Given the description of an element on the screen output the (x, y) to click on. 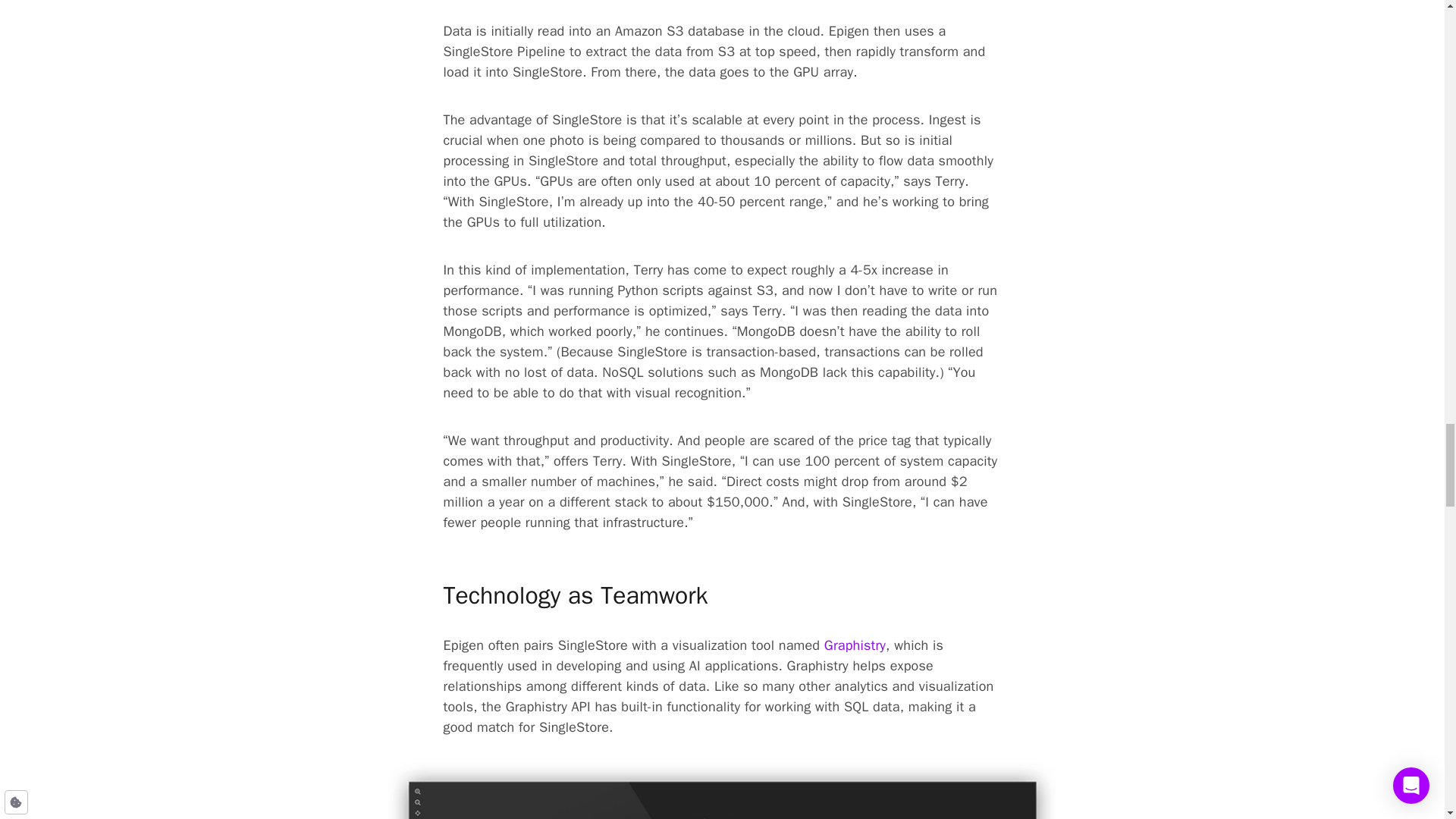
Graphistry (854, 646)
